Given the description of an element on the screen output the (x, y) to click on. 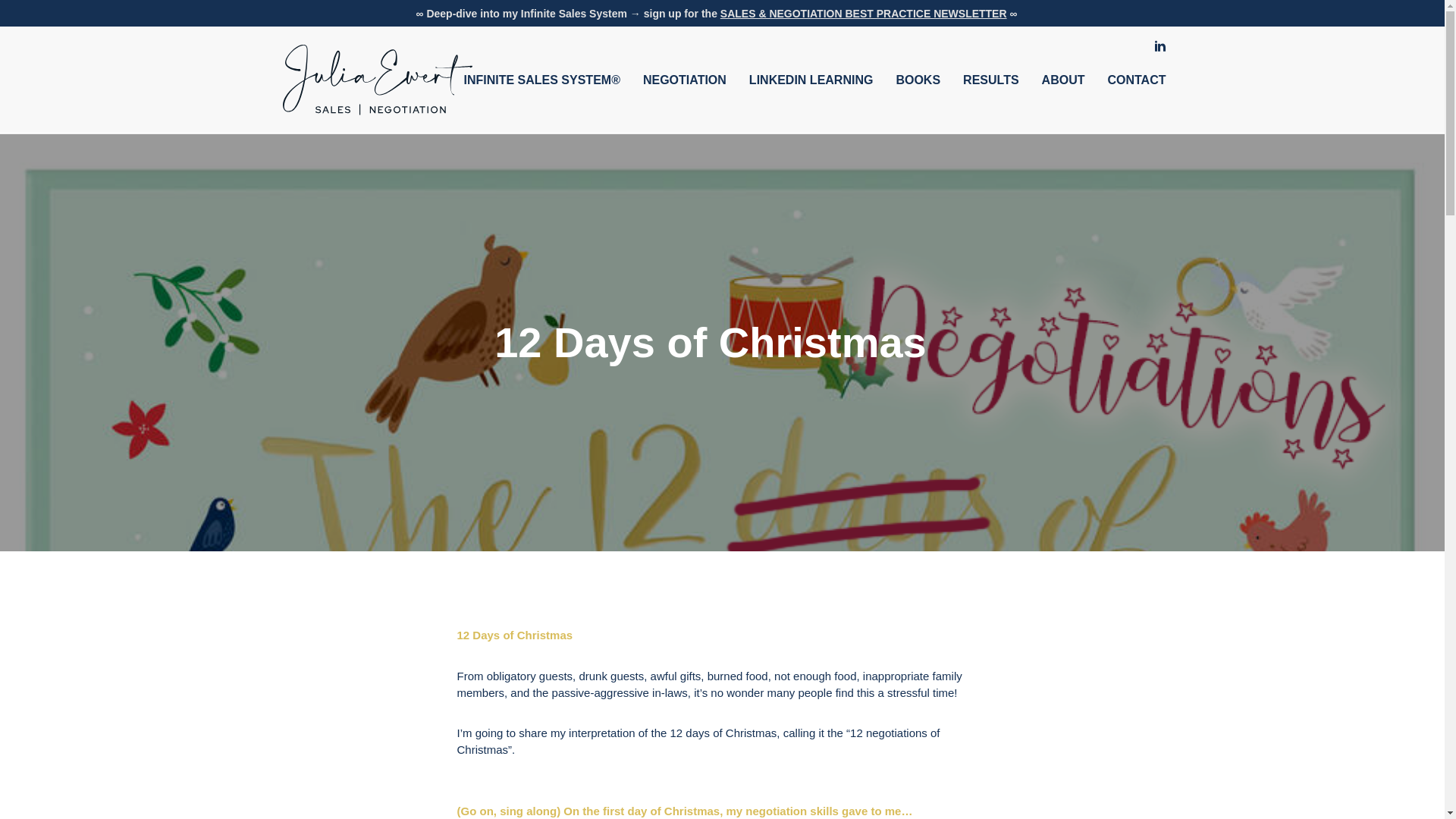
BOOKS (917, 80)
LINKEDIN LEARNING (811, 80)
RESULTS (990, 80)
RESULTS (990, 80)
LINKEDIN LEARNING (811, 80)
NEGOTIATION (684, 80)
BOOKS (917, 80)
CONTACT (1136, 80)
ABOUT (1063, 80)
ABOUT (1063, 80)
